Given the description of an element on the screen output the (x, y) to click on. 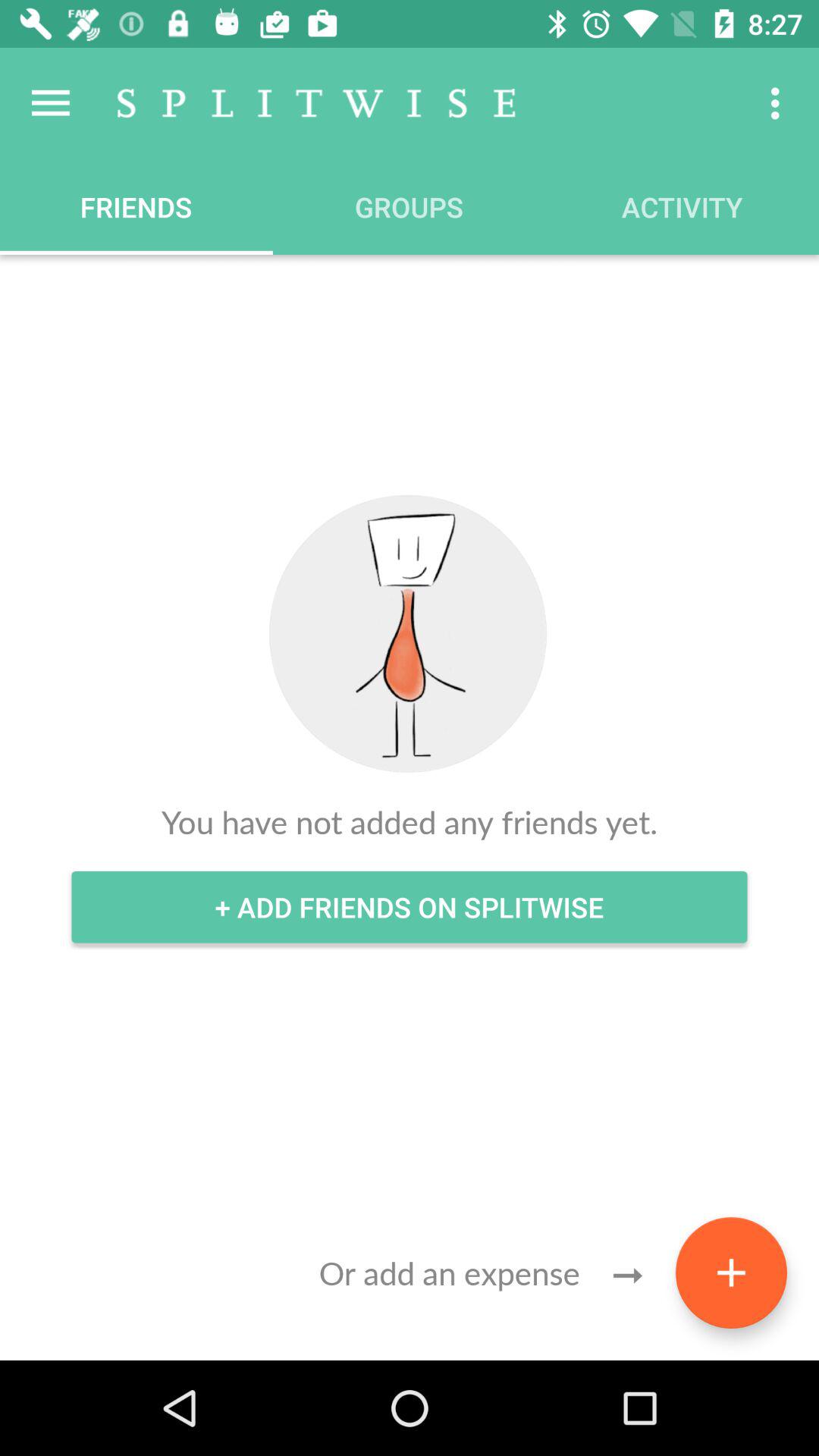
scroll to add friends on (409, 906)
